Given the description of an element on the screen output the (x, y) to click on. 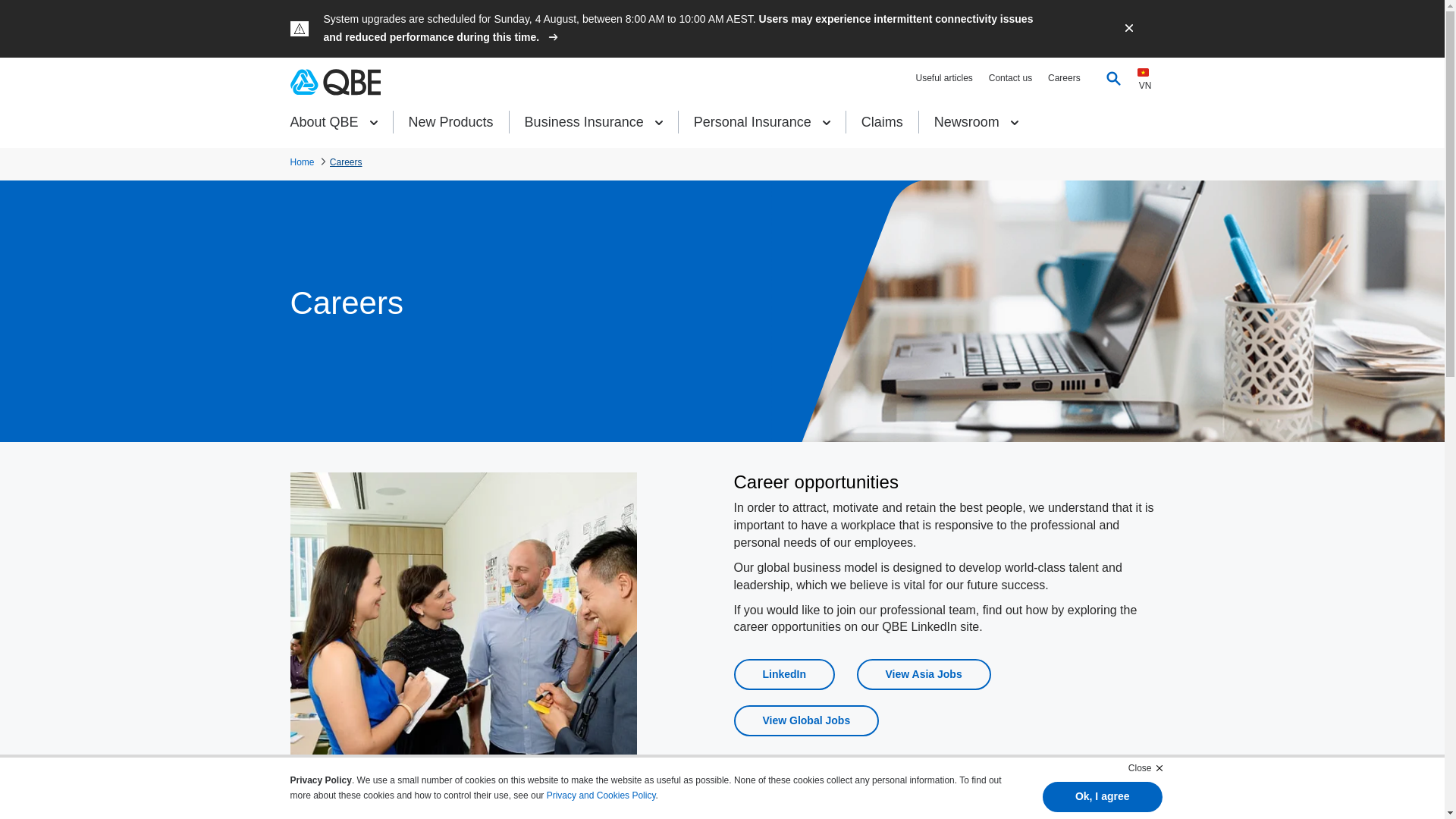
Search (1113, 77)
Careers (1064, 77)
Useful articles (943, 77)
search (1139, 170)
Contact us (1010, 77)
QBE Insurance (334, 81)
